Given the description of an element on the screen output the (x, y) to click on. 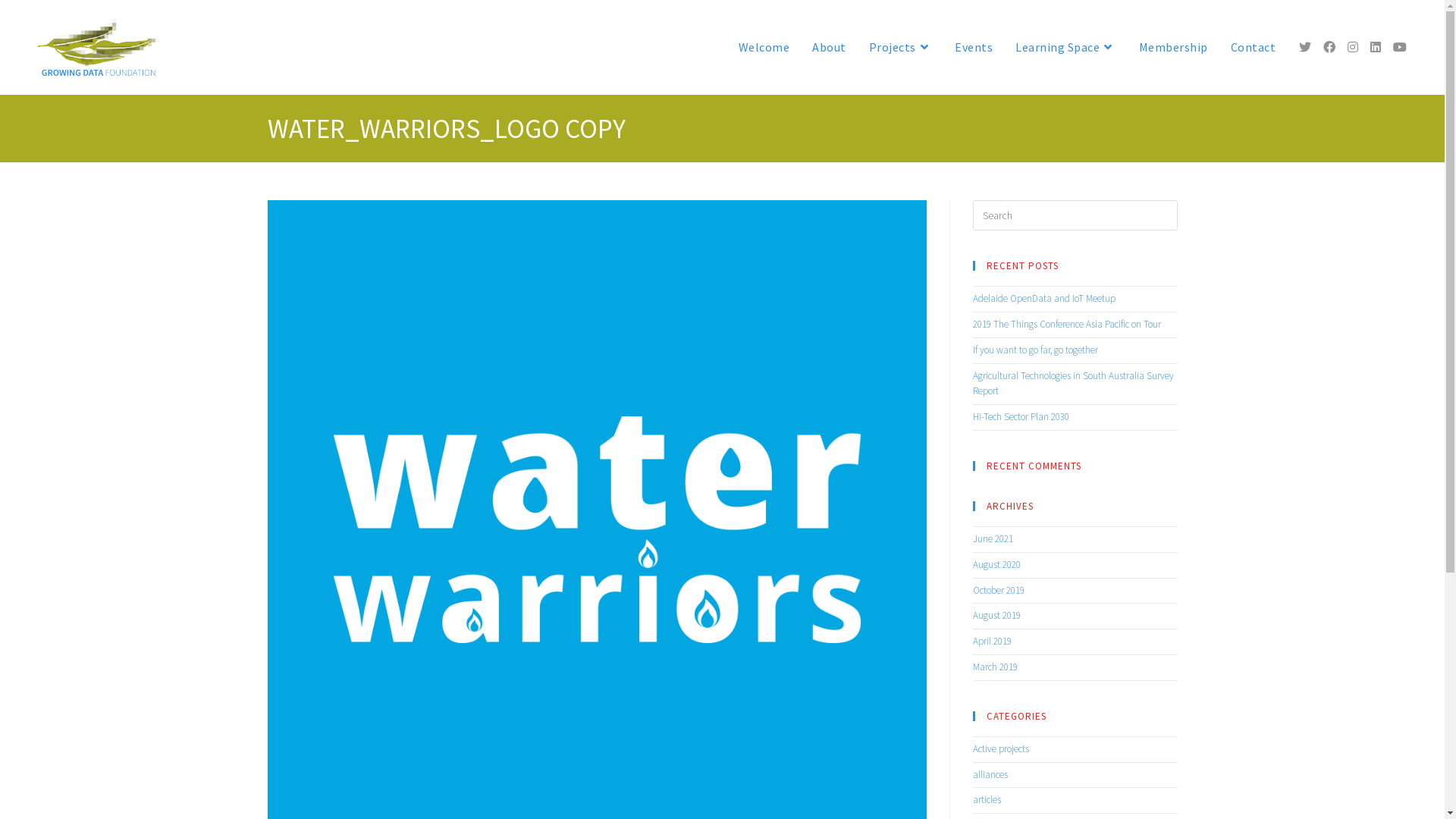
Hi-Tech Sector Plan 2030 Element type: text (1020, 416)
Events Element type: text (973, 47)
Projects Element type: text (899, 47)
2019 The Things Conference Asia Pacific on Tour Element type: text (1066, 323)
Adelaide OpenData and IoT Meetup Element type: text (1043, 297)
About Element type: text (828, 47)
October 2019 Element type: text (997, 589)
Welcome Element type: text (763, 47)
If you want to go far, go together Element type: text (1034, 349)
alliances Element type: text (989, 774)
Membership Element type: text (1172, 47)
Active projects Element type: text (1000, 748)
March 2019 Element type: text (994, 666)
Learning Space Element type: text (1065, 47)
articles Element type: text (986, 799)
June 2021 Element type: text (992, 538)
April 2019 Element type: text (991, 640)
August 2020 Element type: text (995, 564)
Contact Element type: text (1253, 47)
Agricultural Technologies in South Australia Survey Report Element type: text (1072, 383)
August 2019 Element type: text (995, 614)
